Given the description of an element on the screen output the (x, y) to click on. 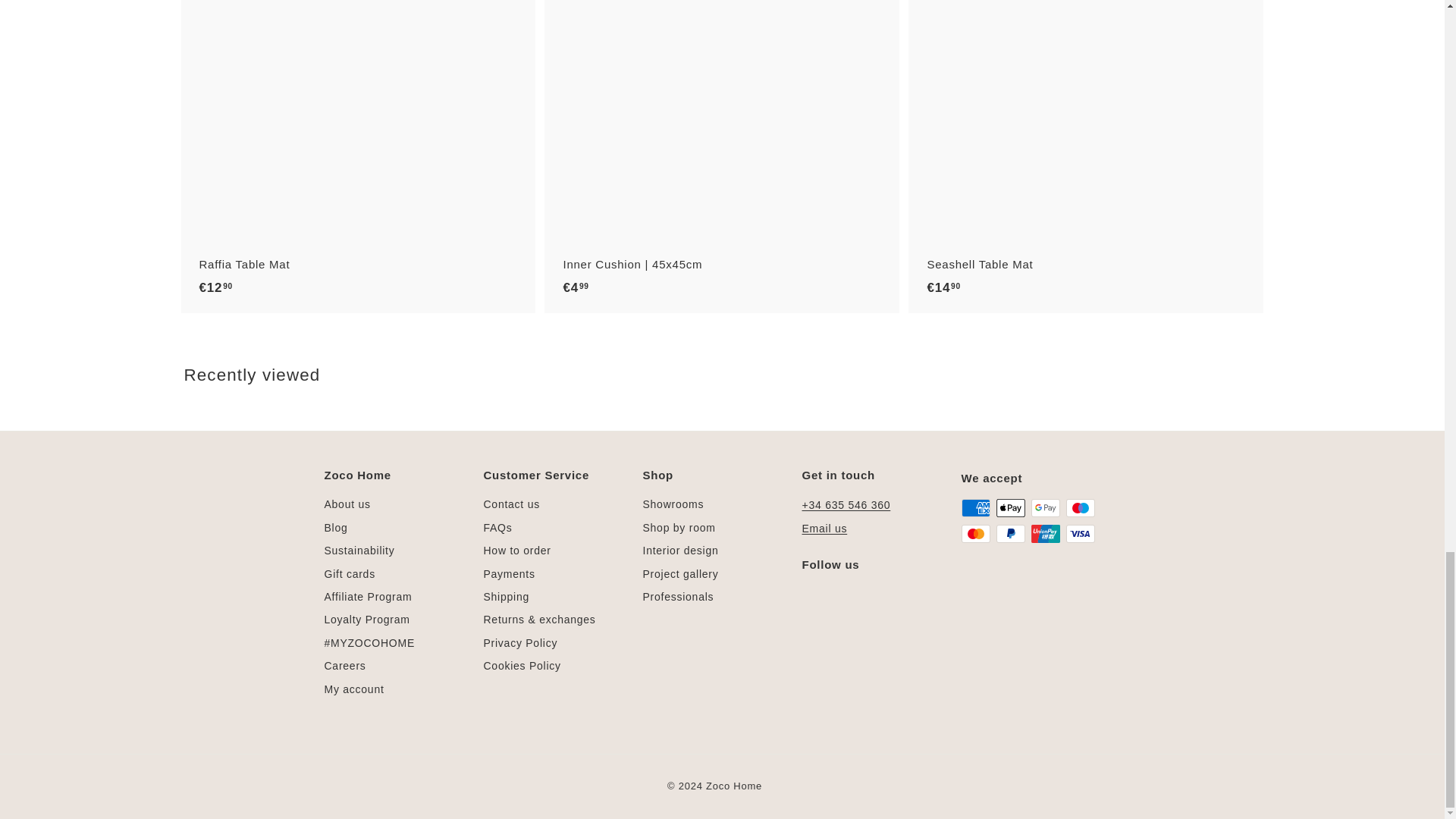
Google Pay (1044, 507)
Maestro (1079, 507)
American Express (975, 507)
Mastercard (975, 533)
Visa (1079, 533)
Union Pay (1044, 533)
PayPal (1010, 533)
Apple Pay (1010, 507)
